Given the description of an element on the screen output the (x, y) to click on. 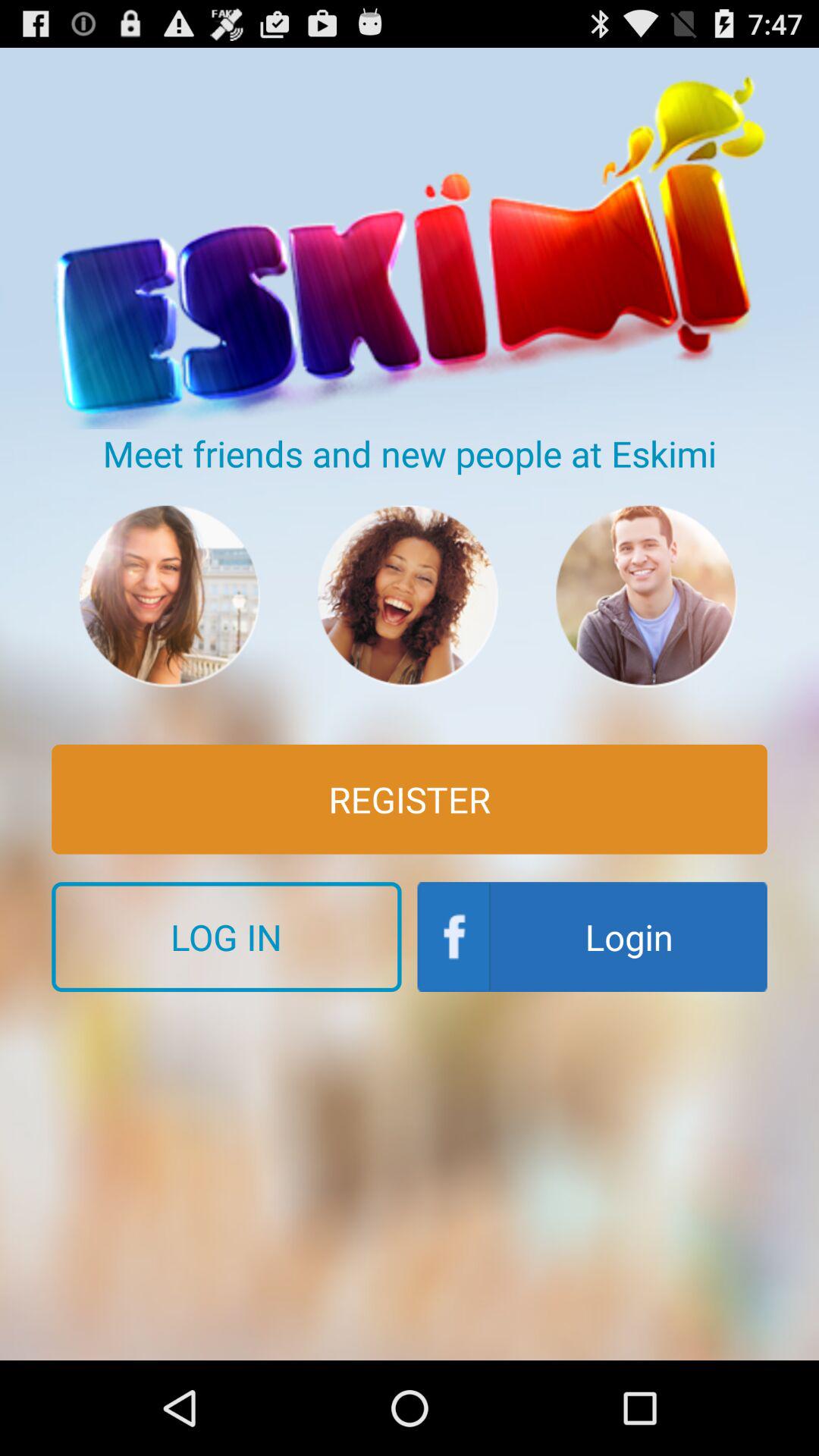
turn off the button below the register icon (226, 936)
